Given the description of an element on the screen output the (x, y) to click on. 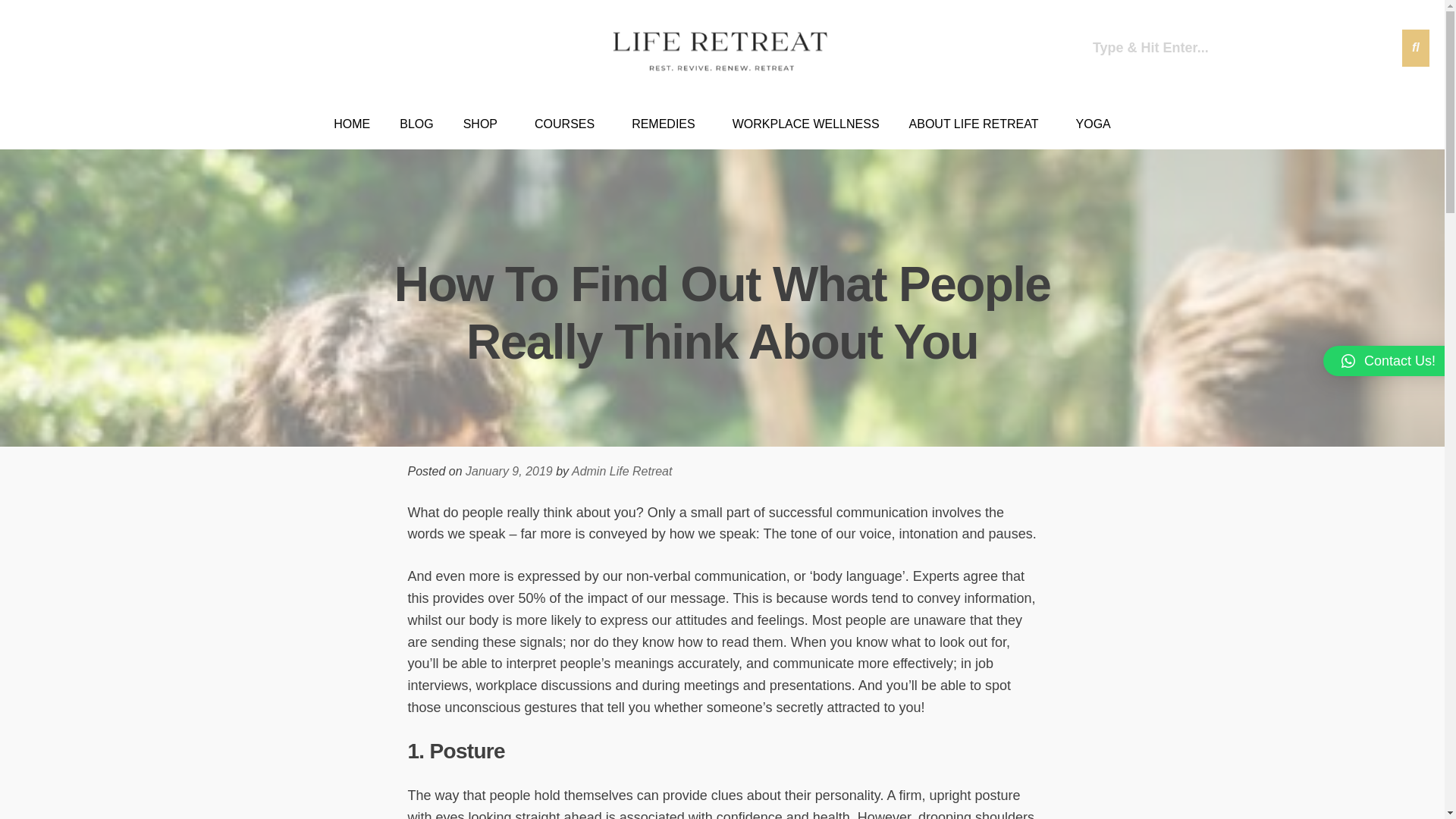
SHOP (483, 124)
January 9, 2019 (509, 471)
Admin Life Retreat (622, 471)
YOGA (1093, 124)
WORKPLACE WELLNESS (805, 124)
HOME (351, 124)
BLOG (416, 124)
Search (1244, 47)
ABOUT LIFE RETREAT (978, 124)
REMEDIES (667, 124)
